Given the description of an element on the screen output the (x, y) to click on. 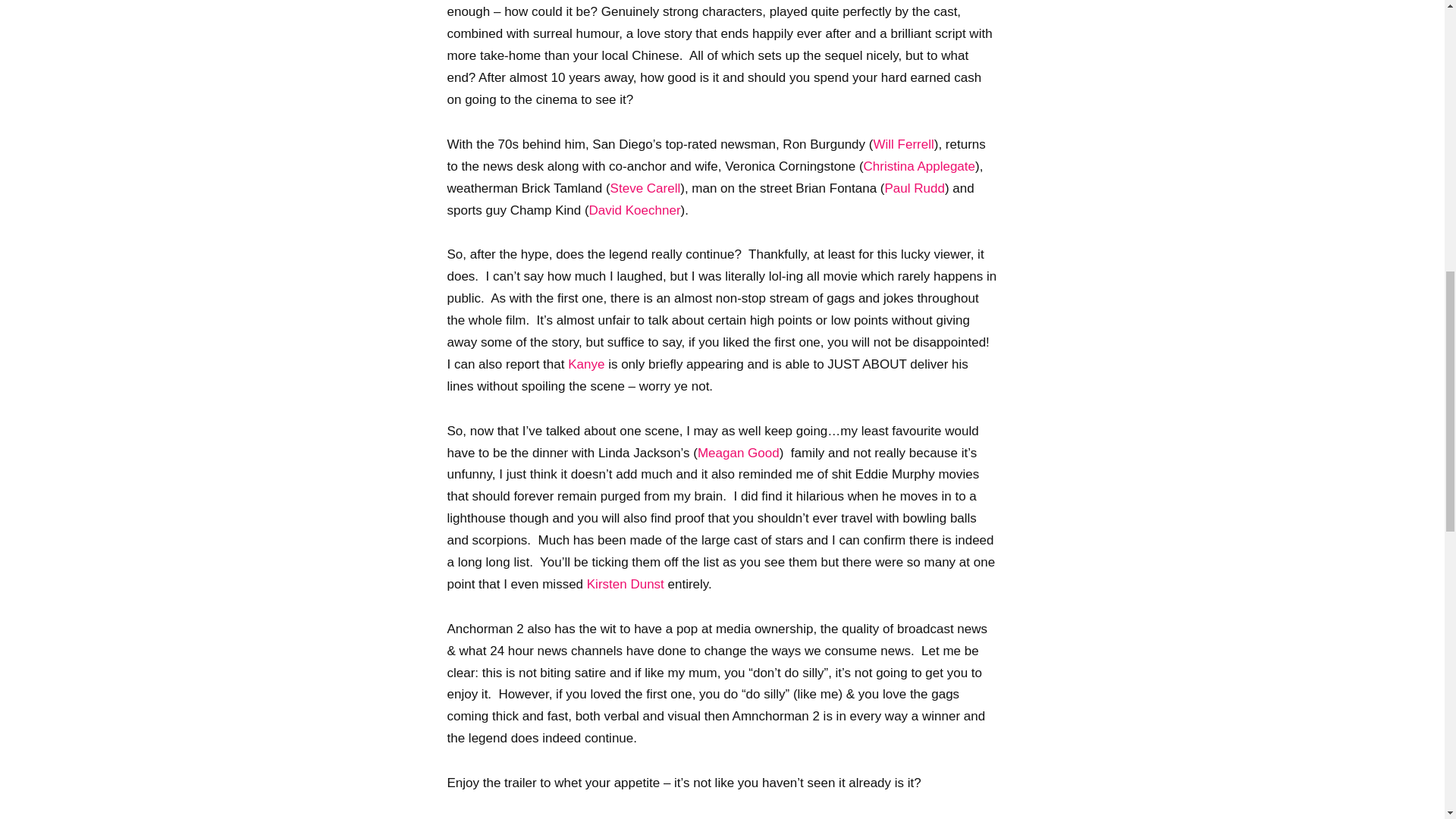
Steve Carell (645, 187)
Kanye West (585, 364)
Steve Carell (645, 187)
Paul Rudd (914, 187)
David Koechner (635, 210)
David Koechner (635, 210)
Kirsten Dunst (624, 584)
Christina Applegate (919, 165)
Will Ferrell (902, 144)
Meagan Good (737, 452)
Kirsten Dunst (624, 584)
Paul Rudd (914, 187)
Will Ferrell (902, 144)
Kanye (585, 364)
Meagan Good (737, 452)
